Given the description of an element on the screen output the (x, y) to click on. 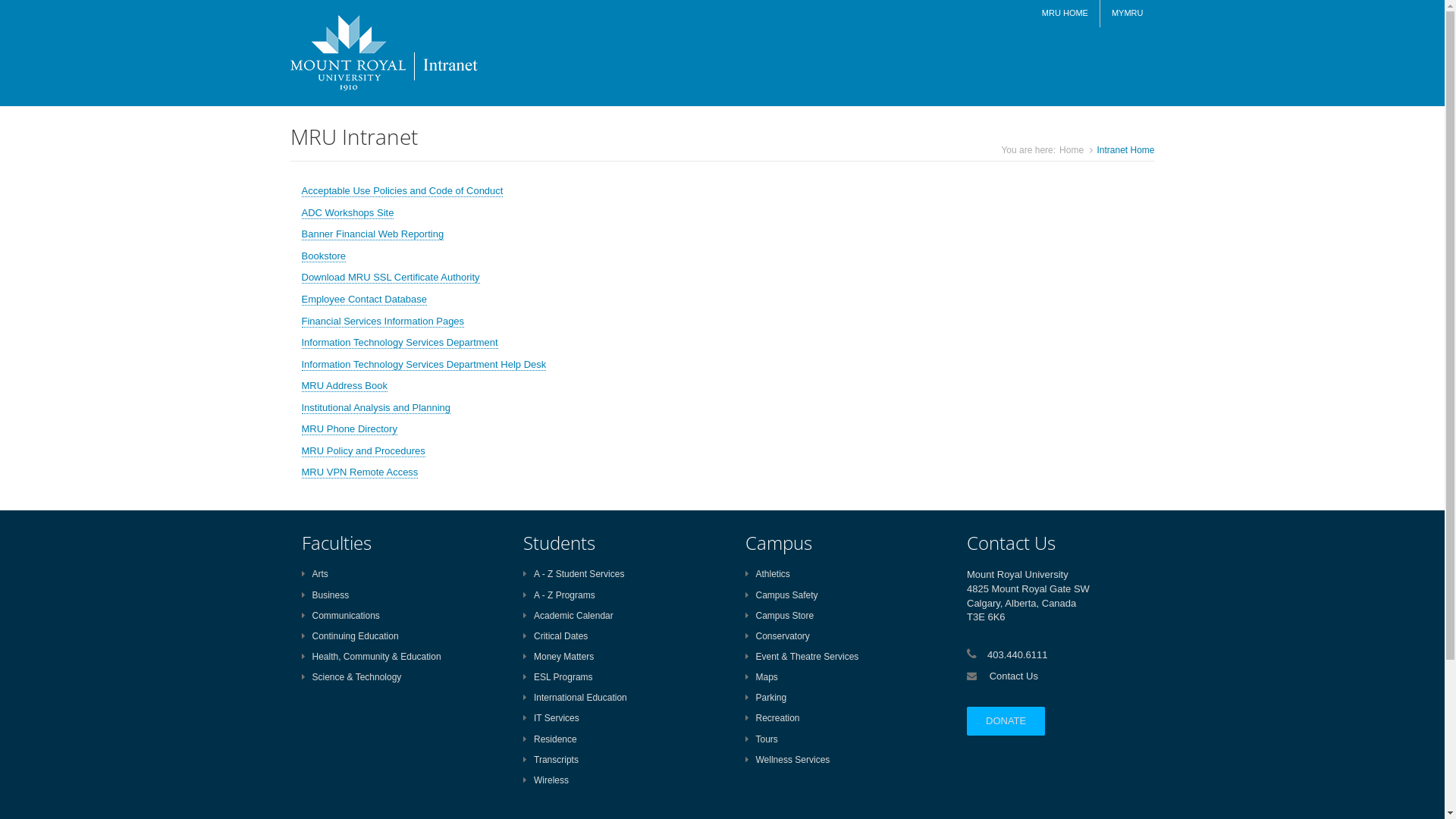
MRU Phone Directory Element type: text (349, 429)
DONATE Element type: text (999, 720)
ESL Programs Element type: text (558, 676)
MYMRU Element type: text (1127, 13)
Institutional Analysis and Planning Element type: text (376, 407)
Critical Dates Element type: text (555, 635)
Transcripts Element type: text (550, 759)
Campus Safety Element type: text (780, 594)
Maps Element type: text (760, 676)
ADC Workshops Site Element type: text (347, 213)
Bookstore Element type: text (323, 256)
Event & Theatre Services Element type: text (801, 656)
Contact Us Element type: text (1013, 675)
Communications Element type: text (340, 615)
MRU Policy and Procedures Element type: text (363, 451)
MRU VPN Remote Access Element type: text (359, 472)
Acceptable Use Policies and Code of Conduct Element type: text (402, 191)
Tours Element type: text (760, 739)
Continuing Education Element type: text (349, 635)
International Education Element type: text (575, 697)
Conservatory Element type: text (776, 635)
Residence Element type: text (550, 739)
Science & Technology Element type: text (351, 676)
Employee Contact Database Element type: text (363, 299)
Information Technology Services Department Element type: text (399, 342)
A - Z Programs Element type: text (559, 594)
Download MRU SSL Certificate Authority Element type: text (390, 277)
MRU Address Book Element type: text (344, 385)
Recreation Element type: text (771, 717)
Home Element type: text (1071, 150)
Athletics Element type: text (766, 573)
Arts Element type: text (314, 573)
A - Z Student Services Element type: text (573, 573)
Parking Element type: text (765, 697)
Business Element type: text (325, 594)
Wellness Services Element type: text (786, 759)
MRU HOME Element type: text (1065, 13)
Health, Community & Education Element type: text (371, 656)
Campus Store Element type: text (778, 615)
Wireless Element type: text (545, 780)
IT Services Element type: text (551, 717)
Academic Calendar Element type: text (568, 615)
Banner Financial Web Reporting Element type: text (372, 234)
Money Matters Element type: text (558, 656)
Information Technology Services Department Help Desk Element type: text (423, 364)
Financial Services Information Pages Element type: text (382, 321)
